Given the description of an element on the screen output the (x, y) to click on. 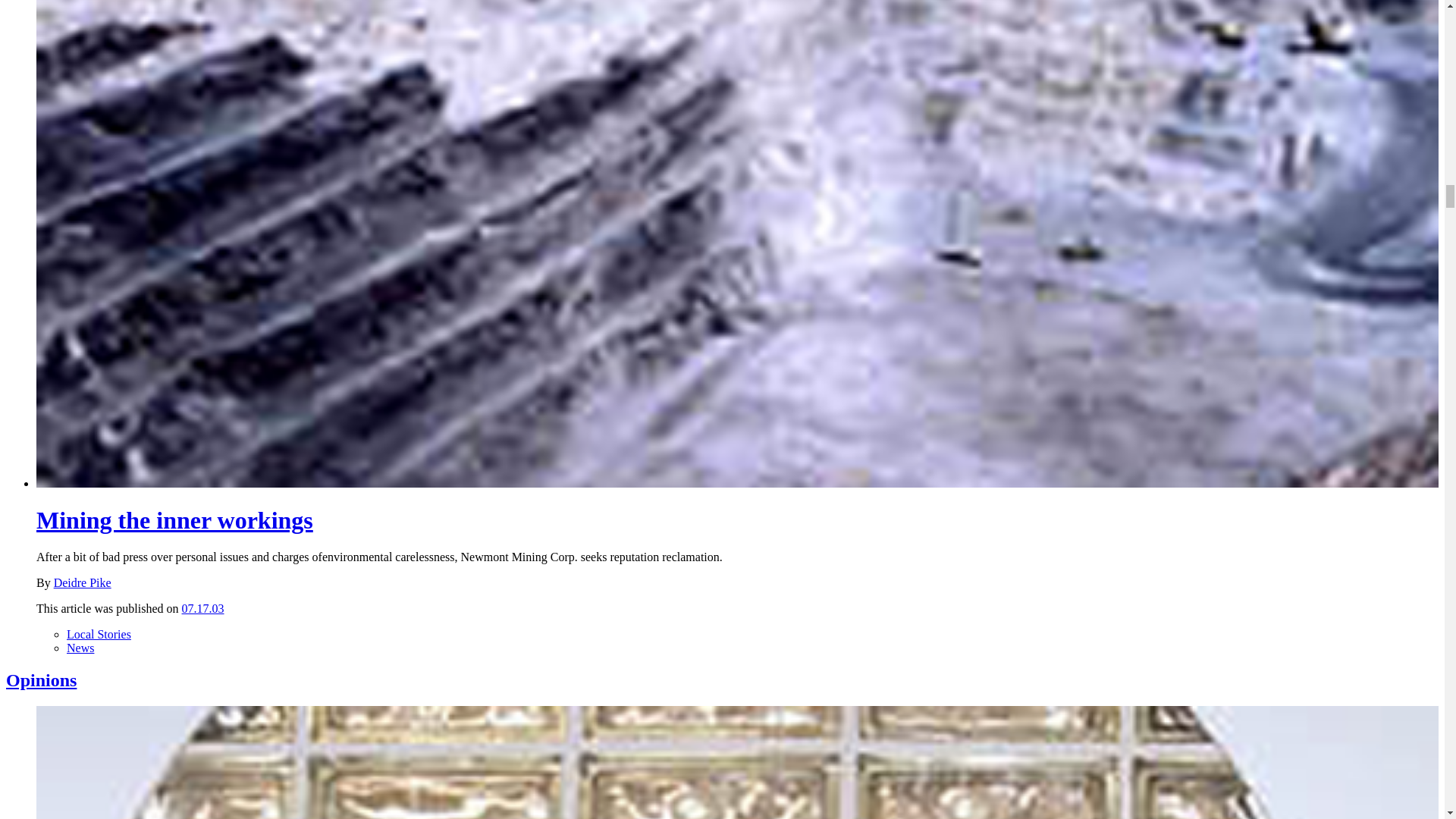
Mining the inner workings (174, 519)
News (80, 647)
07.17.03 (203, 608)
Deidre Pike (82, 582)
Opinions (41, 680)
Local Stories (98, 634)
